Given the description of an element on the screen output the (x, y) to click on. 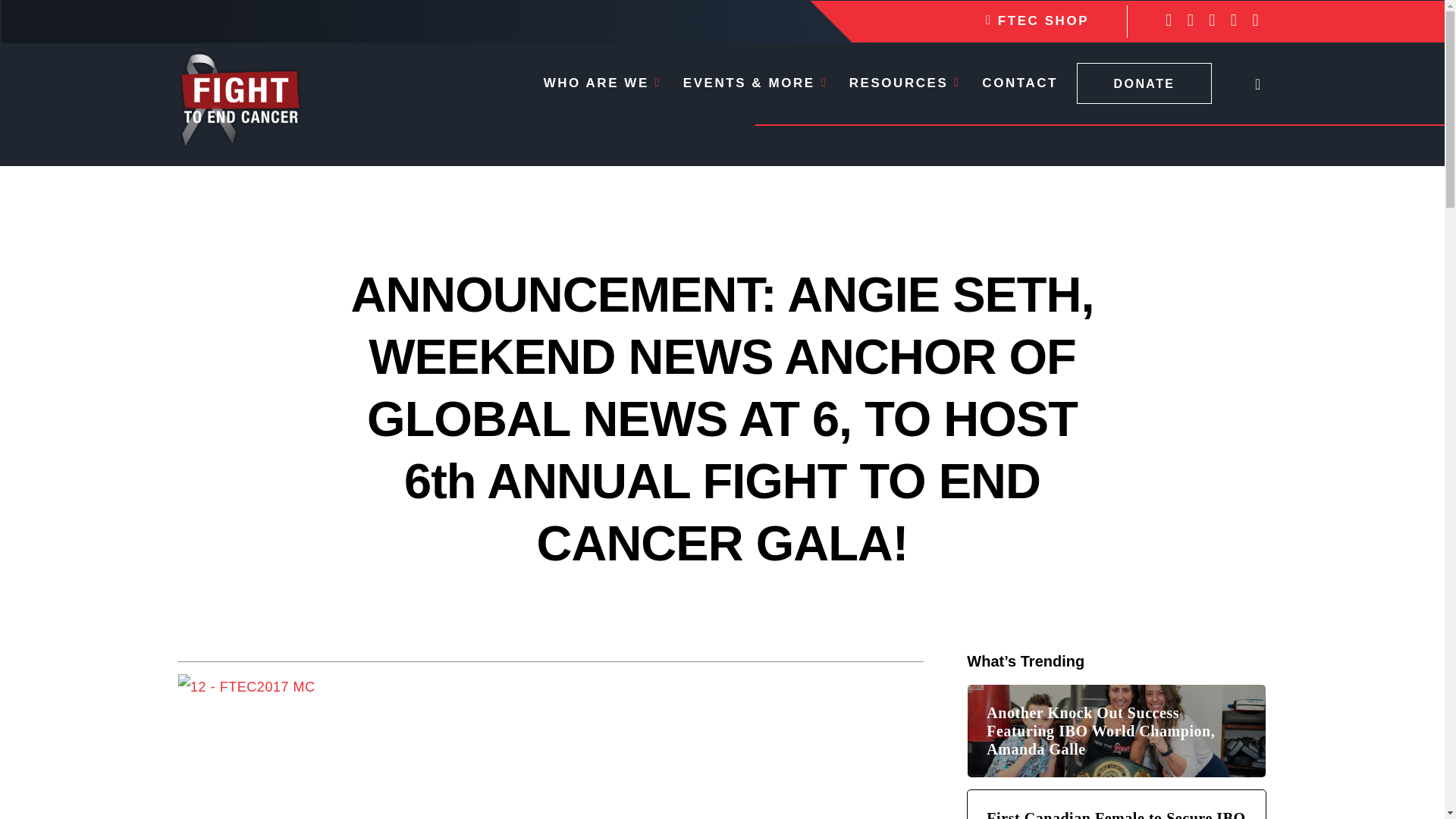
WHO ARE WE (601, 83)
DONATE (1144, 84)
CONTACT (1019, 83)
FTEC SHOP (1037, 20)
RESOURCES (904, 83)
